Given the description of an element on the screen output the (x, y) to click on. 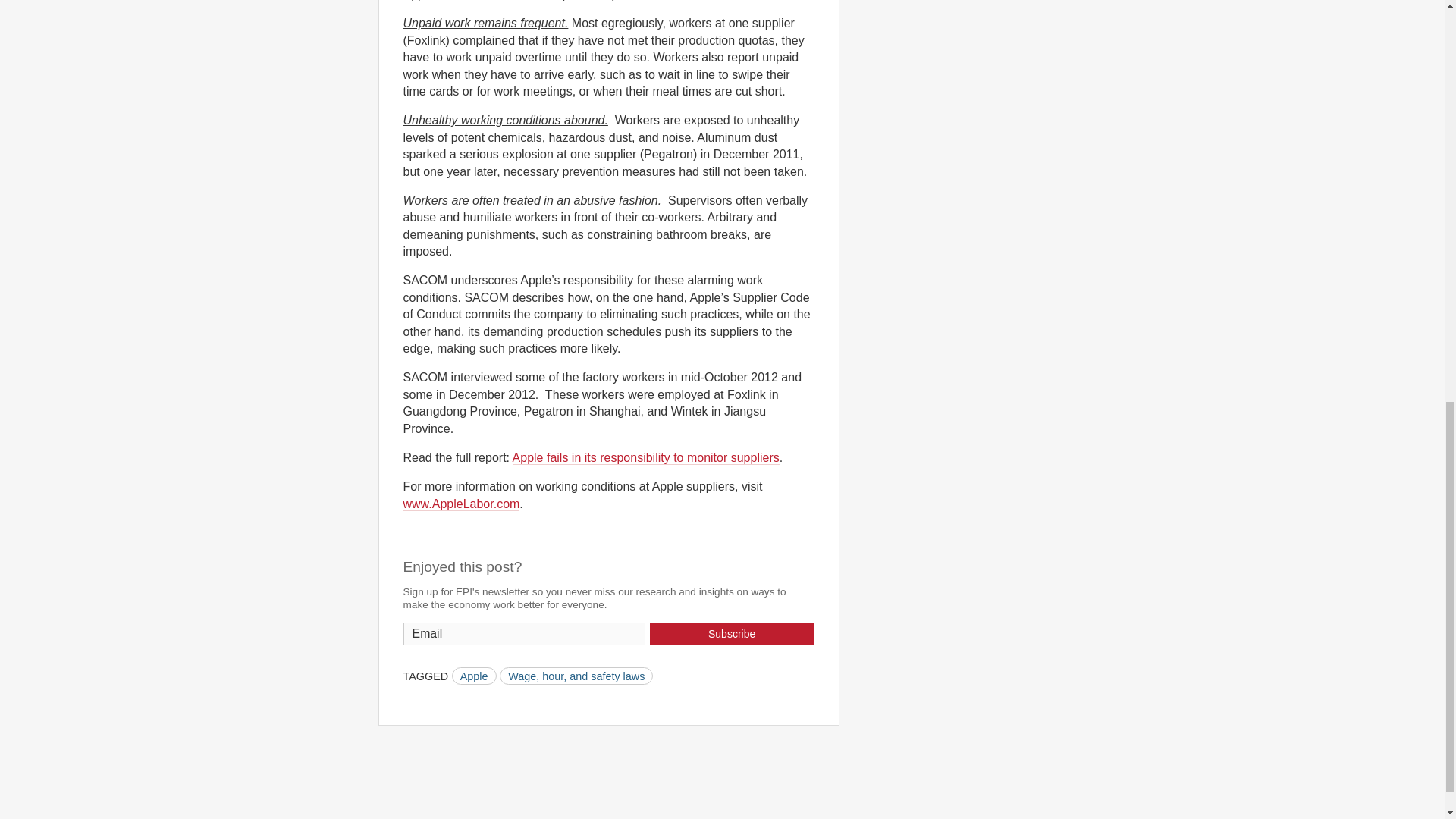
Subscribe (731, 633)
Email (524, 633)
